Given the description of an element on the screen output the (x, y) to click on. 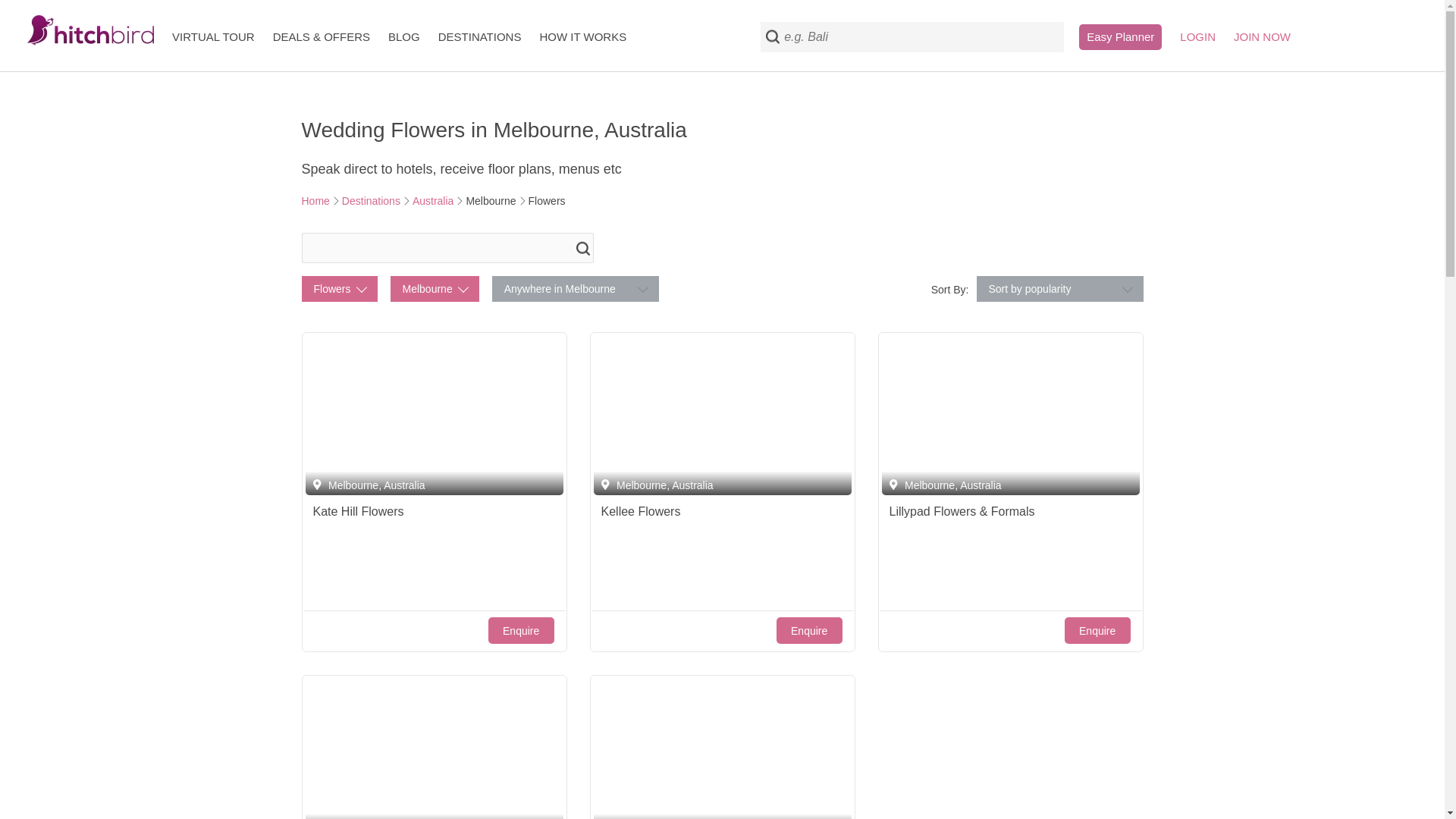
BLOG (404, 36)
Anywhere in Melbourne (575, 289)
Destinations (371, 200)
DESTINATIONS (479, 36)
LOGIN (1197, 36)
Easy Planner (1119, 36)
Home (315, 200)
JOIN NOW (1261, 36)
Australia (432, 200)
Flowers (339, 289)
